Given the description of an element on the screen output the (x, y) to click on. 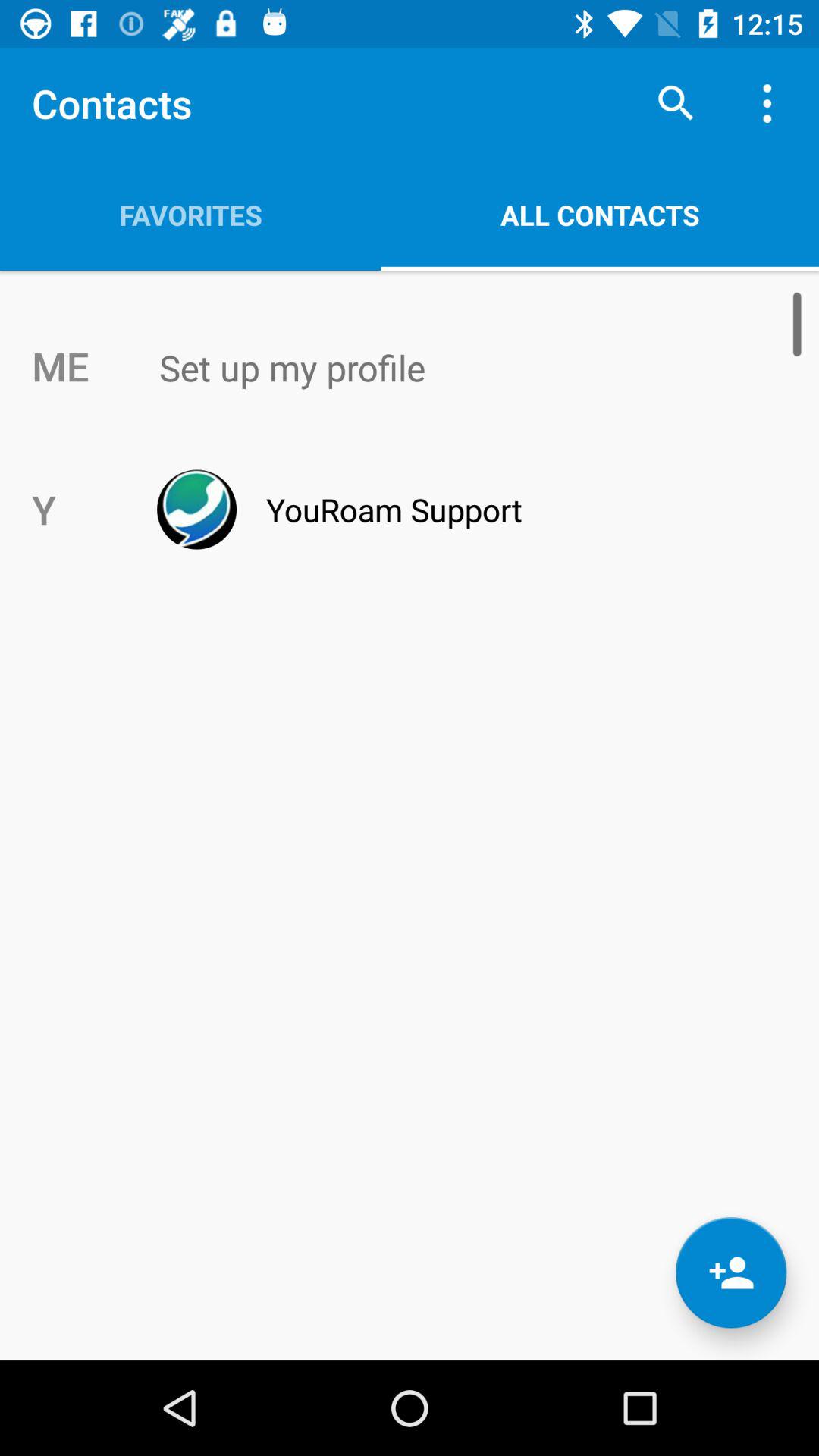
select icon below youroam support icon (731, 1272)
